Given the description of an element on the screen output the (x, y) to click on. 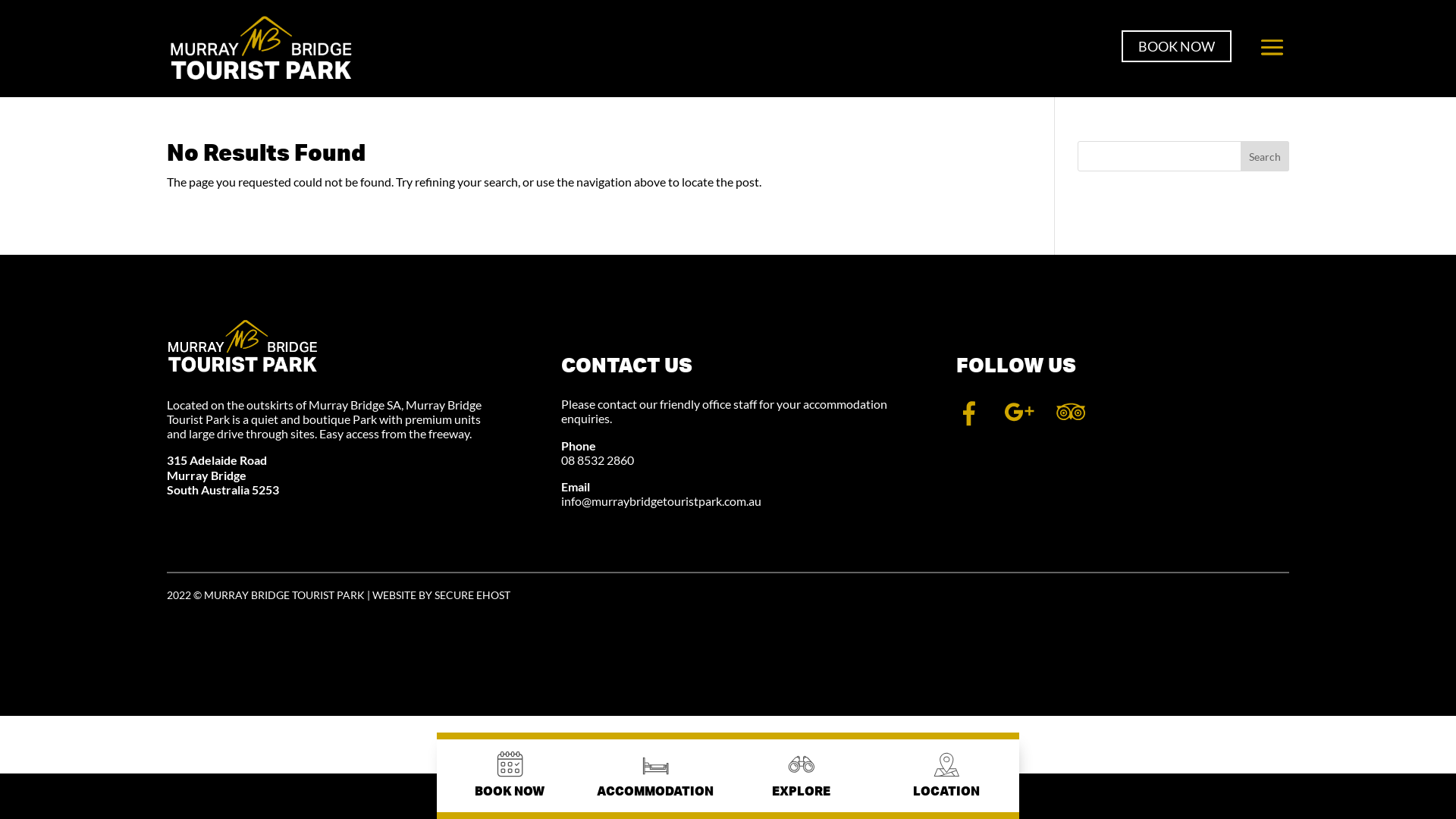
Murray Bridge Tourist Park Element type: hover (242, 346)
BOOK NOW Element type: text (1176, 46)
View us on Google Element type: hover (1019, 421)
08 8532 2860 Element type: text (597, 459)
SECURE EHOST Element type: text (472, 594)
info@murraybridgetouristpark.com.au Element type: text (661, 500)
Trip Advisor Element type: hover (1070, 421)
Follow us on Facebook Element type: hover (969, 421)
Search Element type: text (1264, 156)
